Given the description of an element on the screen output the (x, y) to click on. 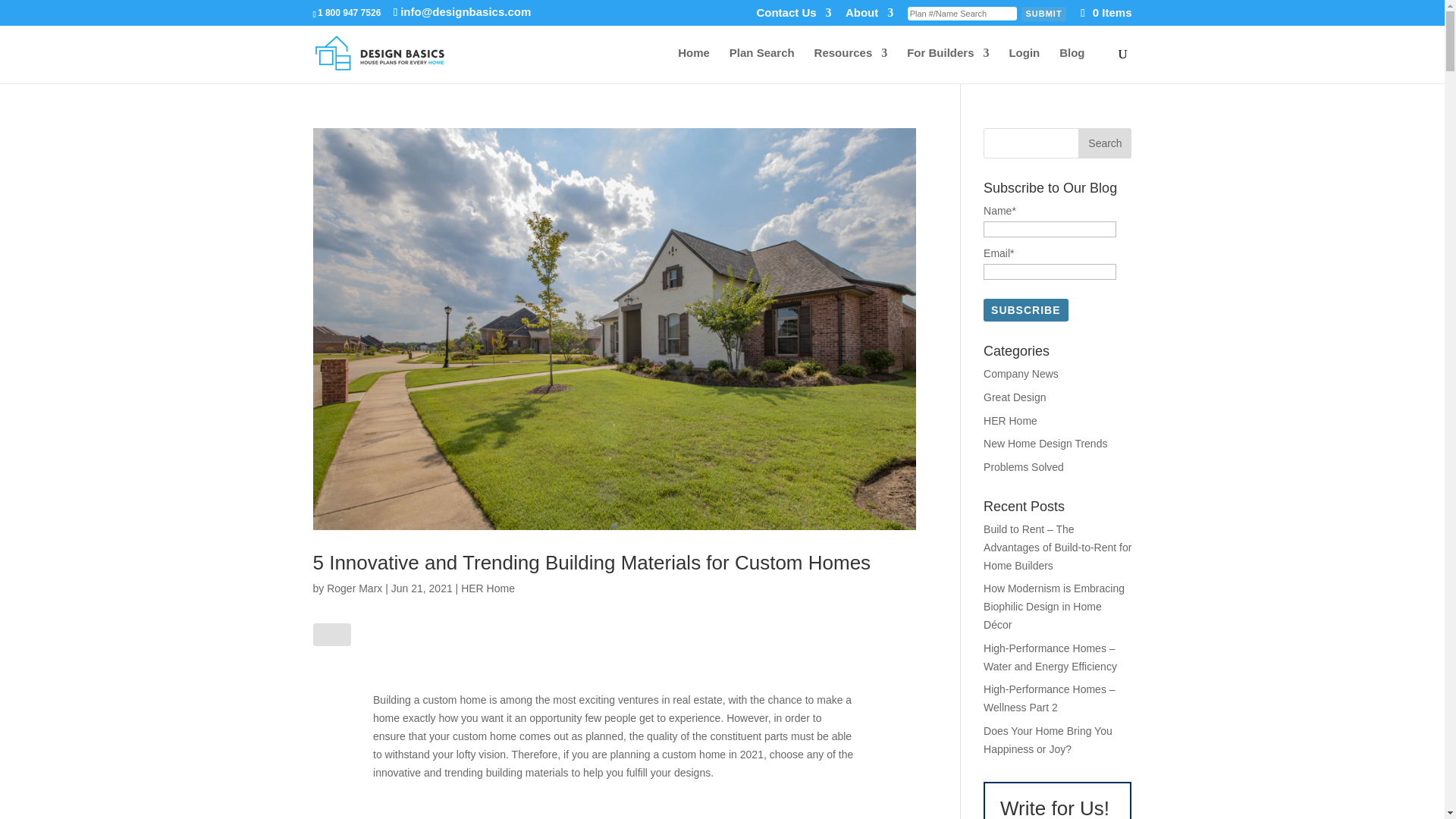
0 Items (1104, 11)
Search (1104, 142)
Resources (850, 65)
Contact Us (793, 16)
Subscribe (1025, 309)
For Builders (947, 65)
Submit (1043, 13)
Plan Search (761, 65)
Submit (1043, 13)
